Given the description of an element on the screen output the (x, y) to click on. 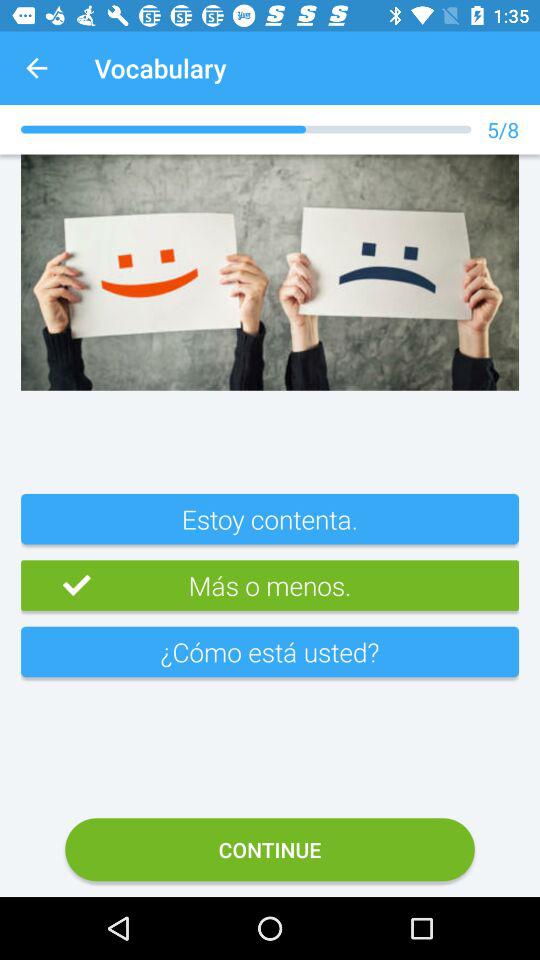
click  bottom continue botton (269, 849)
click on the right mark (56, 585)
go to the image given in the page (269, 272)
select the option which is above the continue option (269, 659)
